Given the description of an element on the screen output the (x, y) to click on. 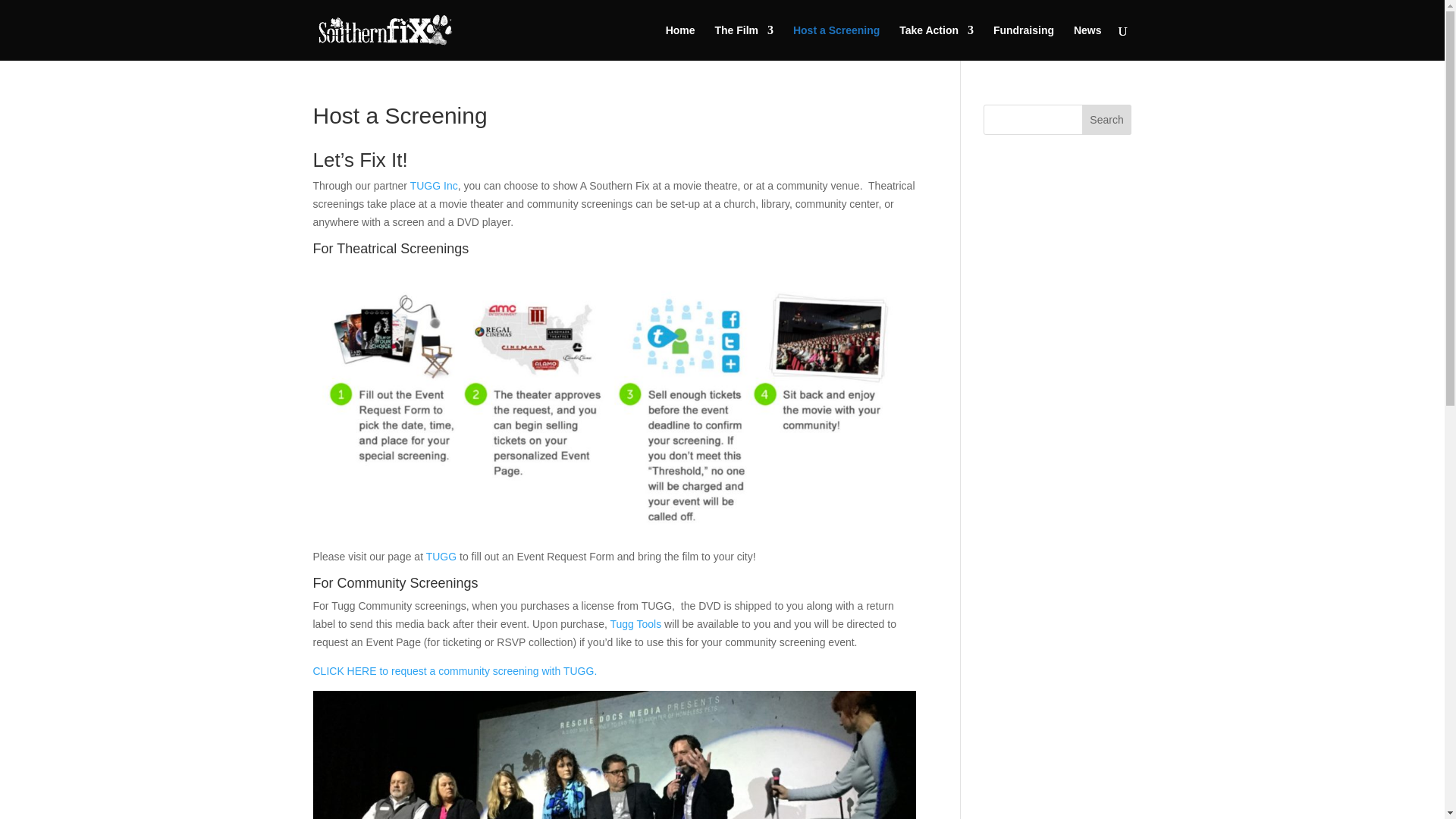
Host a Screening (836, 42)
Take Action (936, 42)
CLICK HERE to request a community screening with TUGG. (454, 671)
Tugg Tools (635, 623)
TUGG (441, 556)
Fundraising (1023, 42)
The Film (743, 42)
TUGG Inc (434, 185)
Search (1106, 119)
